Given the description of an element on the screen output the (x, y) to click on. 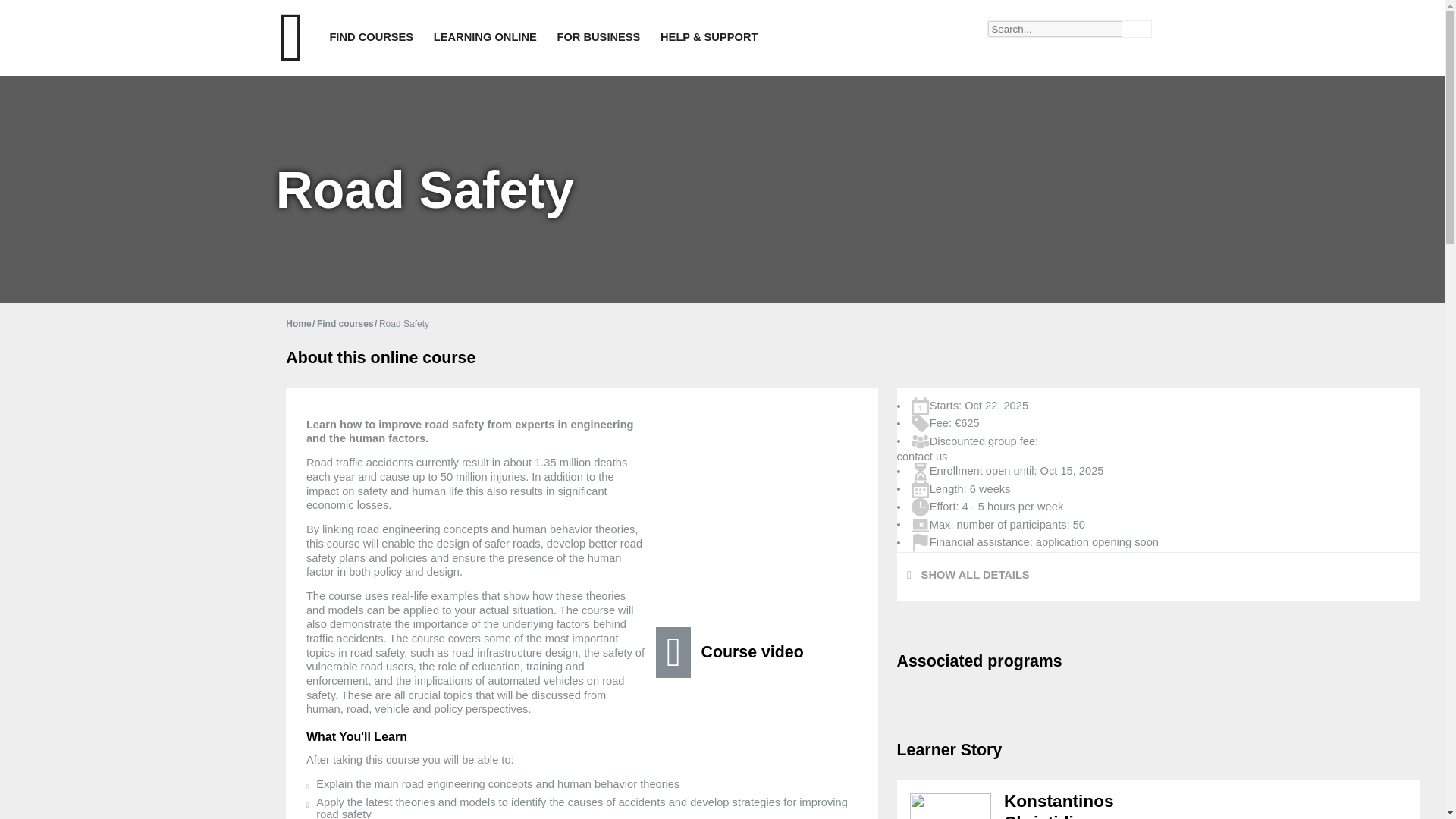
Home (301, 323)
Find courses (347, 323)
FIND COURSES (370, 38)
Find courses (347, 323)
LEARNING ONLINE (485, 38)
FOR BUSINESS (598, 38)
Home (301, 323)
